Given the description of an element on the screen output the (x, y) to click on. 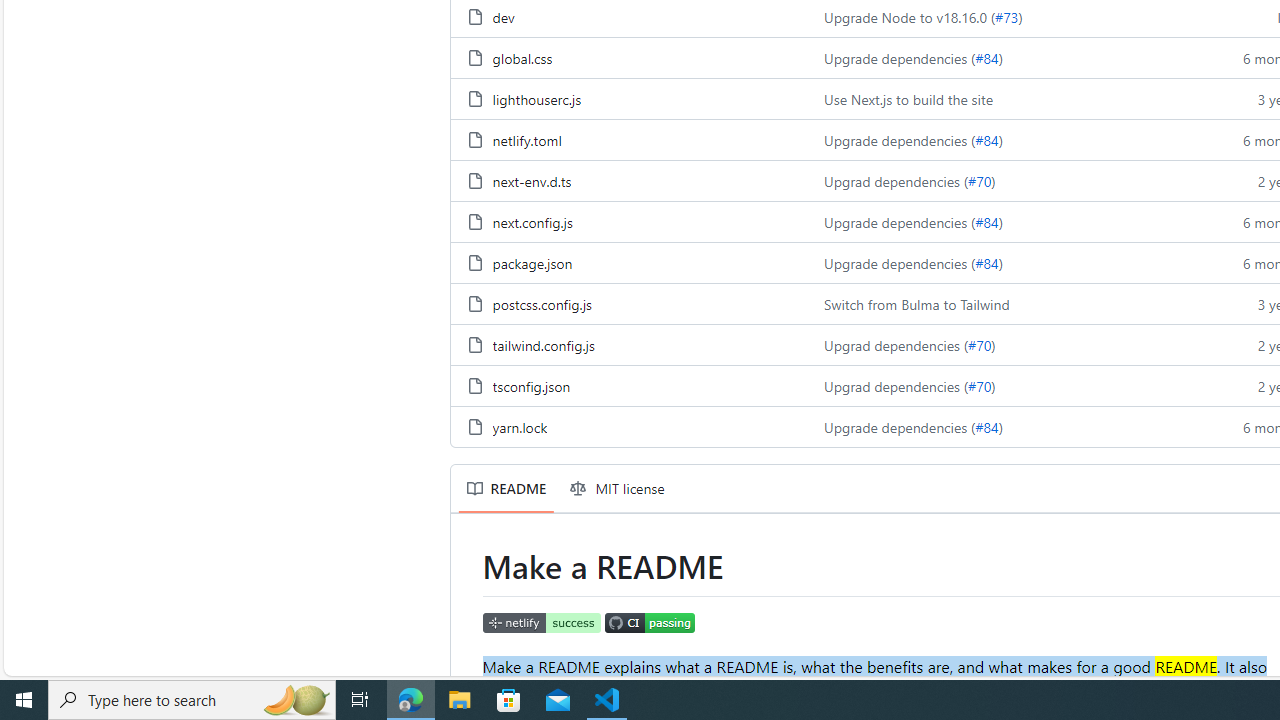
Use Next.js to build the site (1008, 97)
yarn.lock, (File) (519, 426)
README (506, 488)
Upgrade Node to v18.16.0 ( (909, 17)
#84 (986, 426)
global.css, (File) (521, 57)
Upgrade dependencies ( (899, 426)
Switch from Bulma to Tailwind (1008, 303)
global.css, (File) (629, 56)
MIT license (617, 488)
Use Next.js to build the site (908, 98)
dev, (File) (502, 17)
MIT license (617, 488)
Netlify Status (541, 624)
#73 (1006, 17)
